Given the description of an element on the screen output the (x, y) to click on. 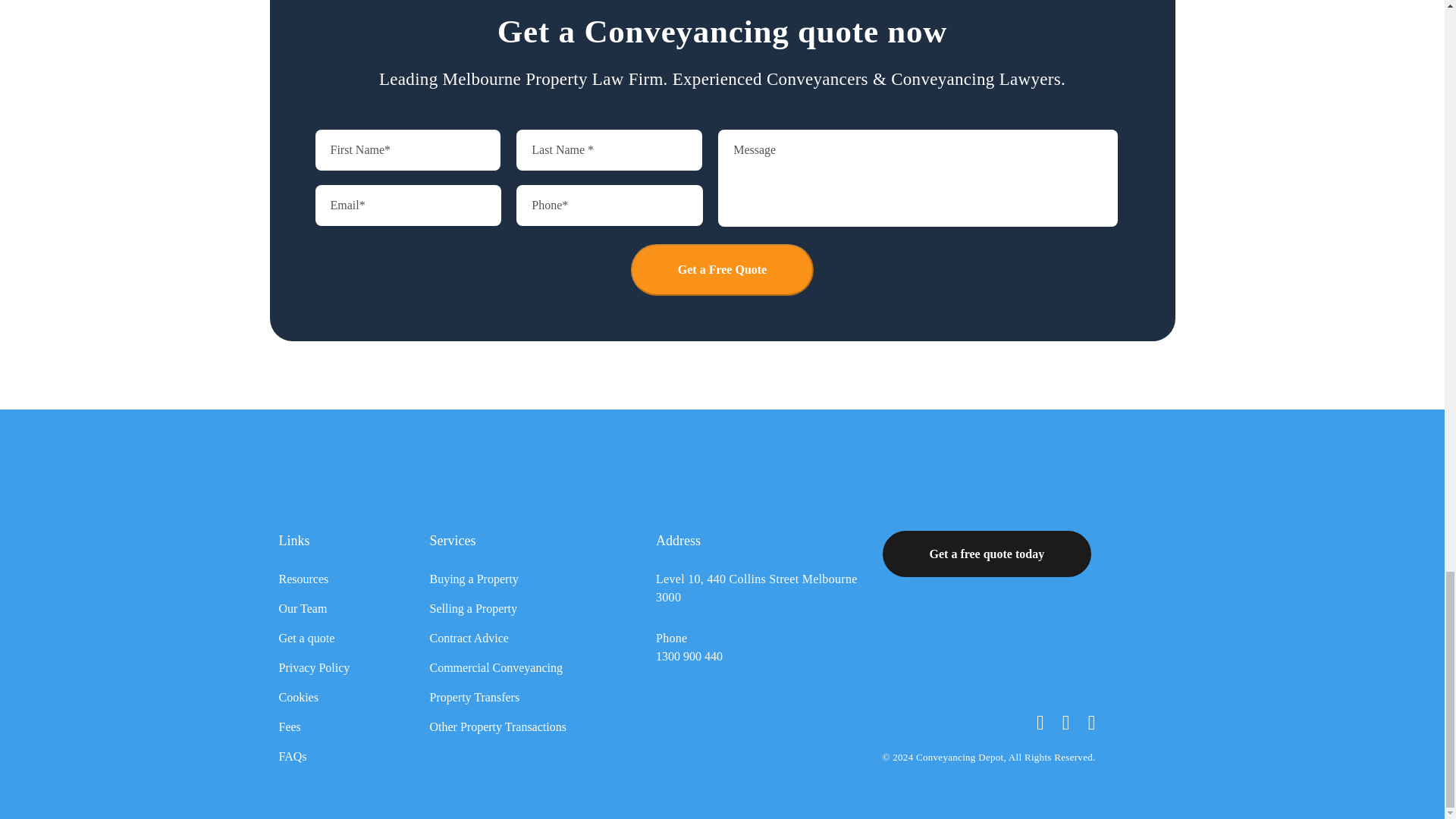
Get a free quote today (987, 553)
Get a Free Quote (721, 269)
1300 900 440 (689, 656)
Conveyancing Depot (352, 476)
